Given the description of an element on the screen output the (x, y) to click on. 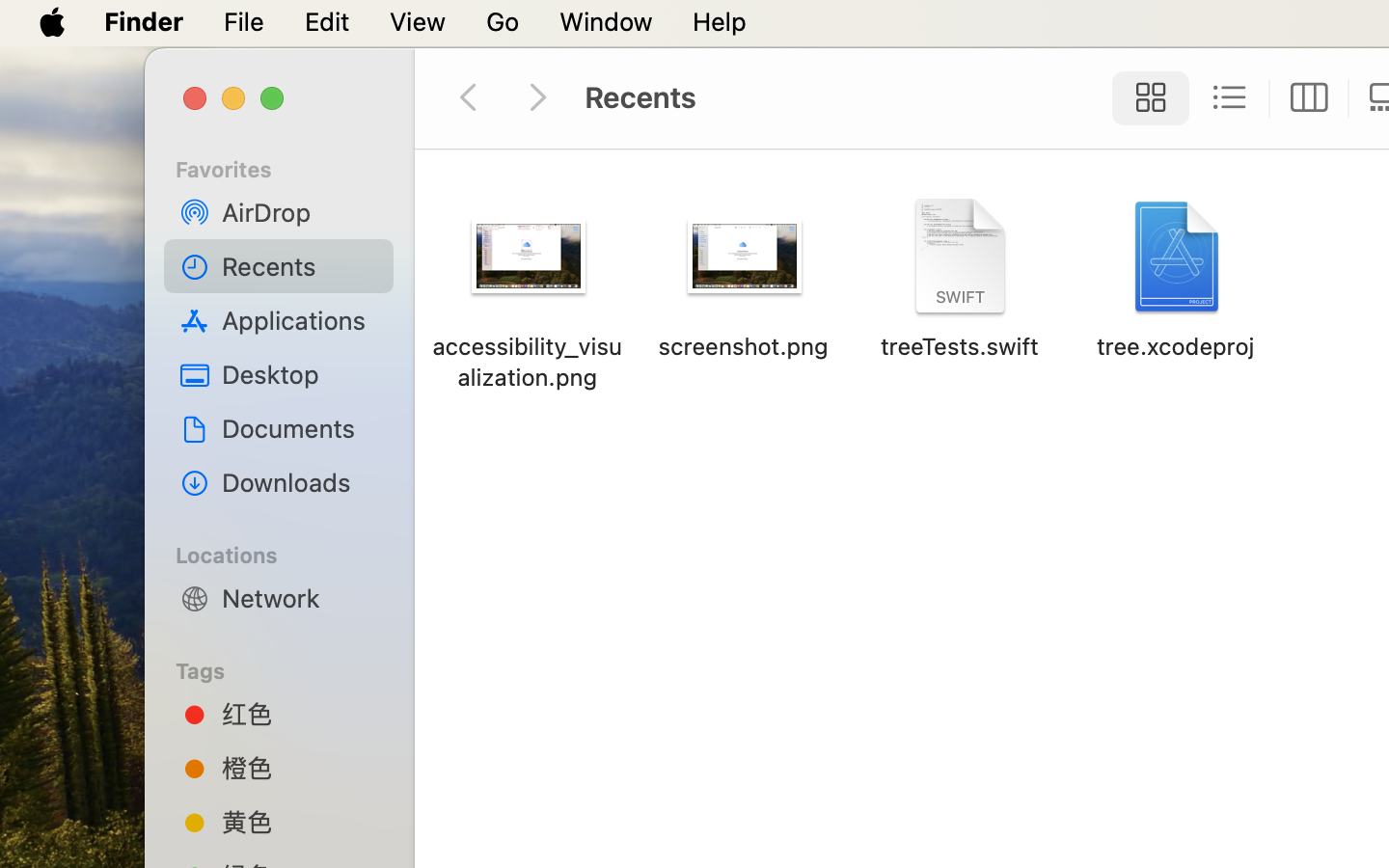
Network Element type: AXStaticText (299, 597)
红色 Element type: AXStaticText (299, 713)
Recents Element type: AXStaticText (299, 265)
AirDrop Element type: AXStaticText (299, 211)
Tags Element type: AXStaticText (289, 668)
